Given the description of an element on the screen output the (x, y) to click on. 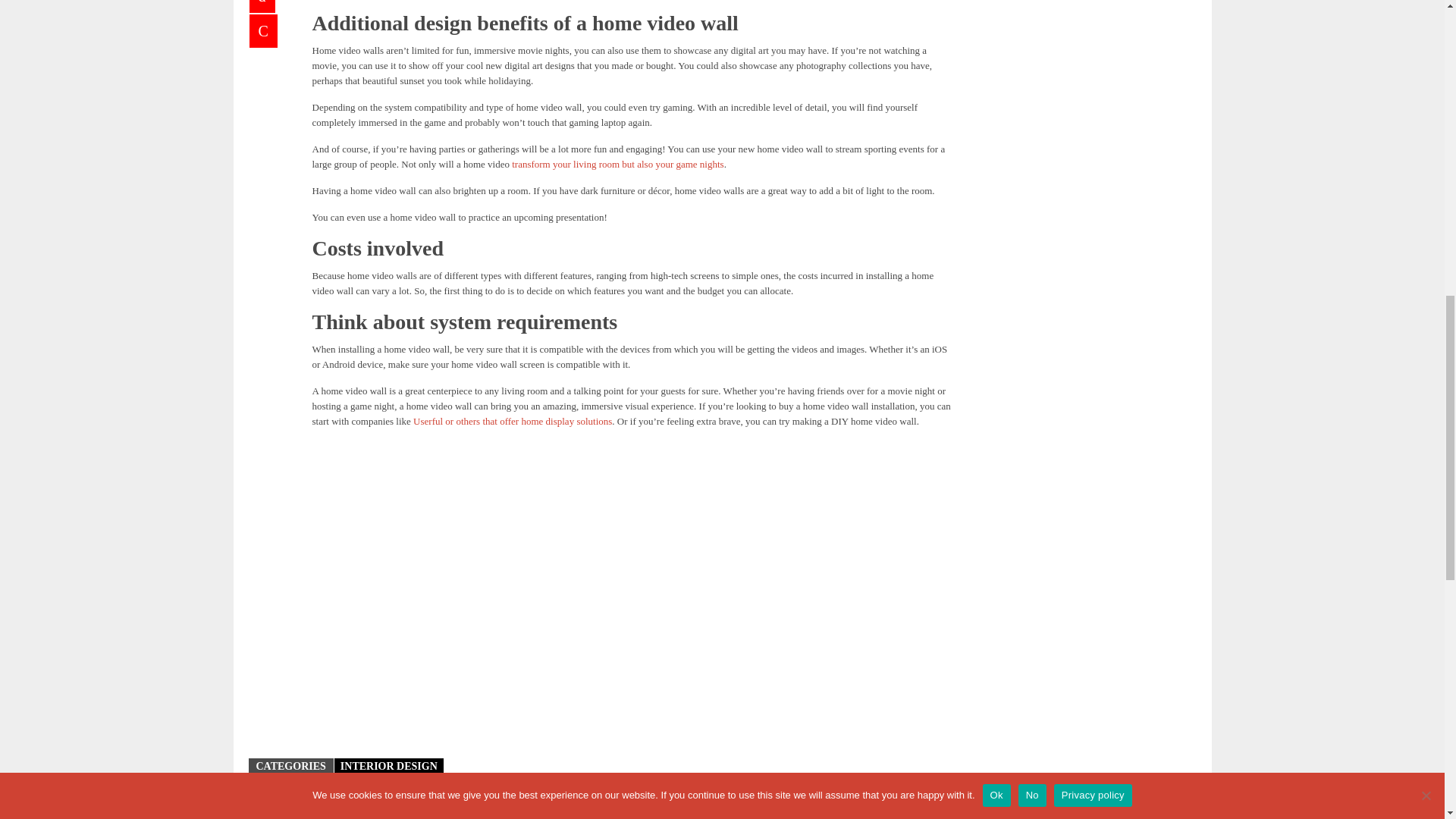
Userful or others that offer home display solutions (512, 420)
INTERIOR DESIGN (389, 766)
transform your living room but also your game nights (617, 163)
